Given the description of an element on the screen output the (x, y) to click on. 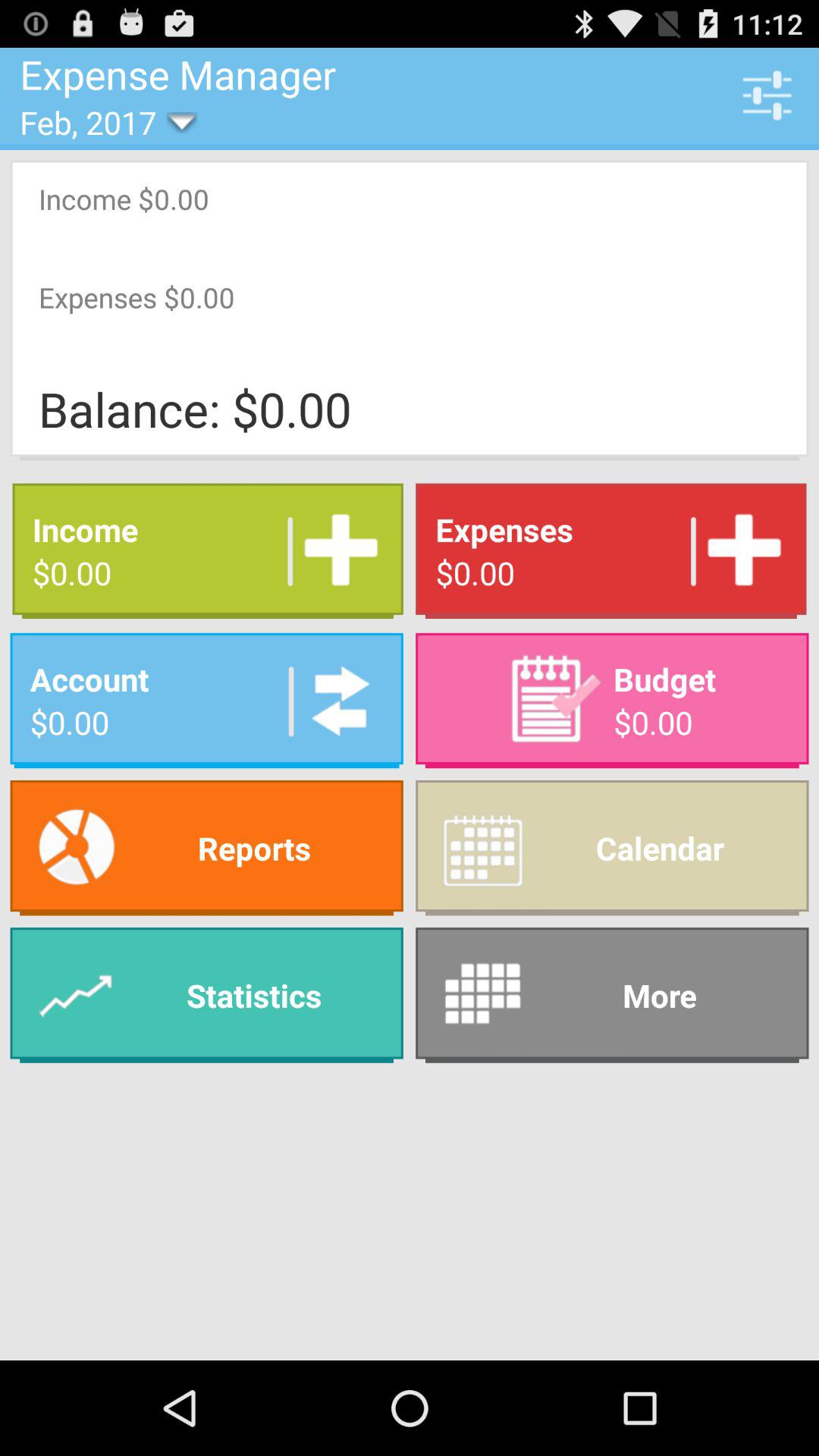
swipe until the reports (206, 847)
